Given the description of an element on the screen output the (x, y) to click on. 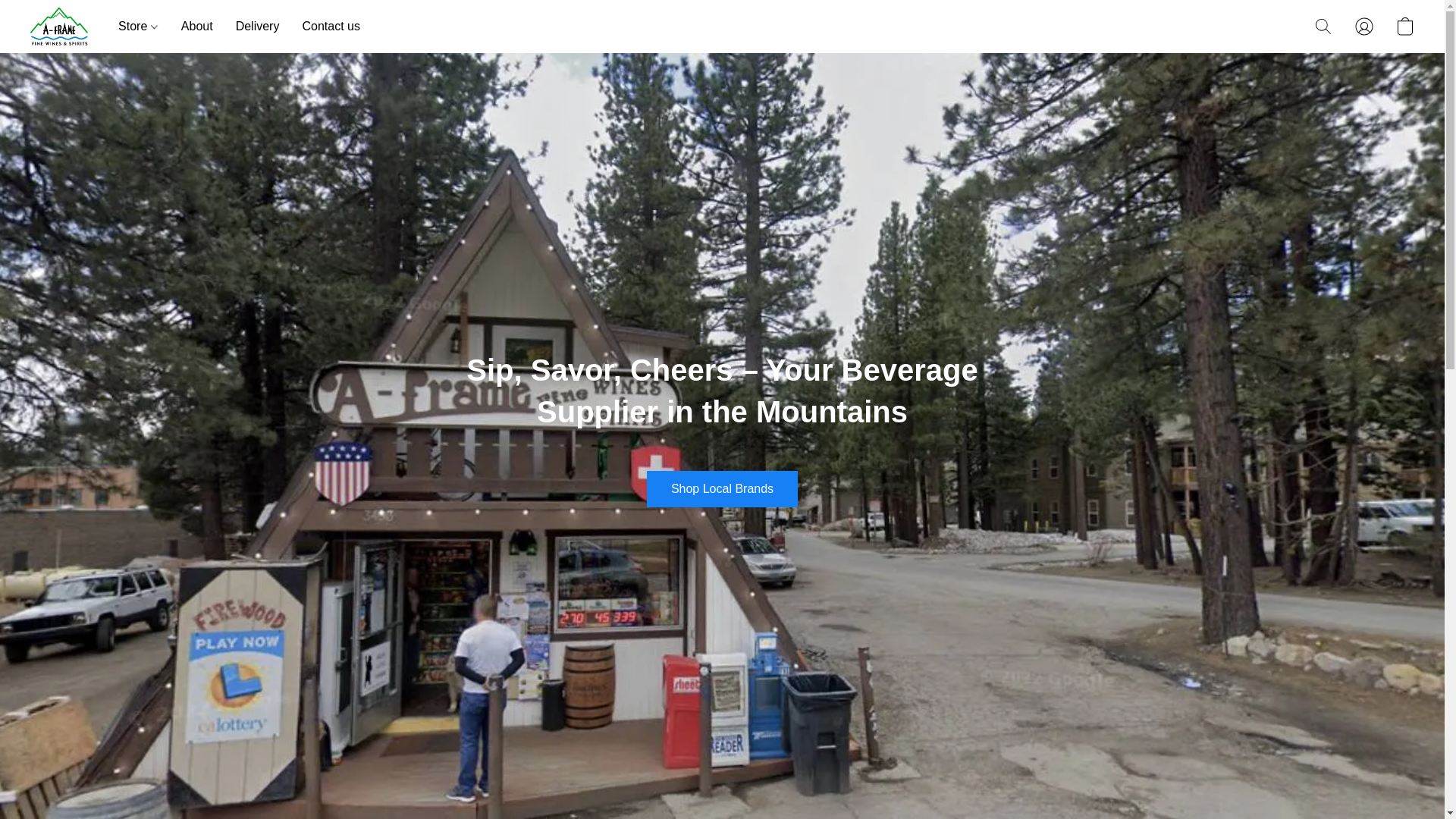
Store (143, 26)
Contact us (324, 26)
Search the website (1323, 26)
About (197, 26)
Shop Local Brands (721, 488)
Go to your shopping cart (1404, 26)
Delivery (257, 26)
